Given the description of an element on the screen output the (x, y) to click on. 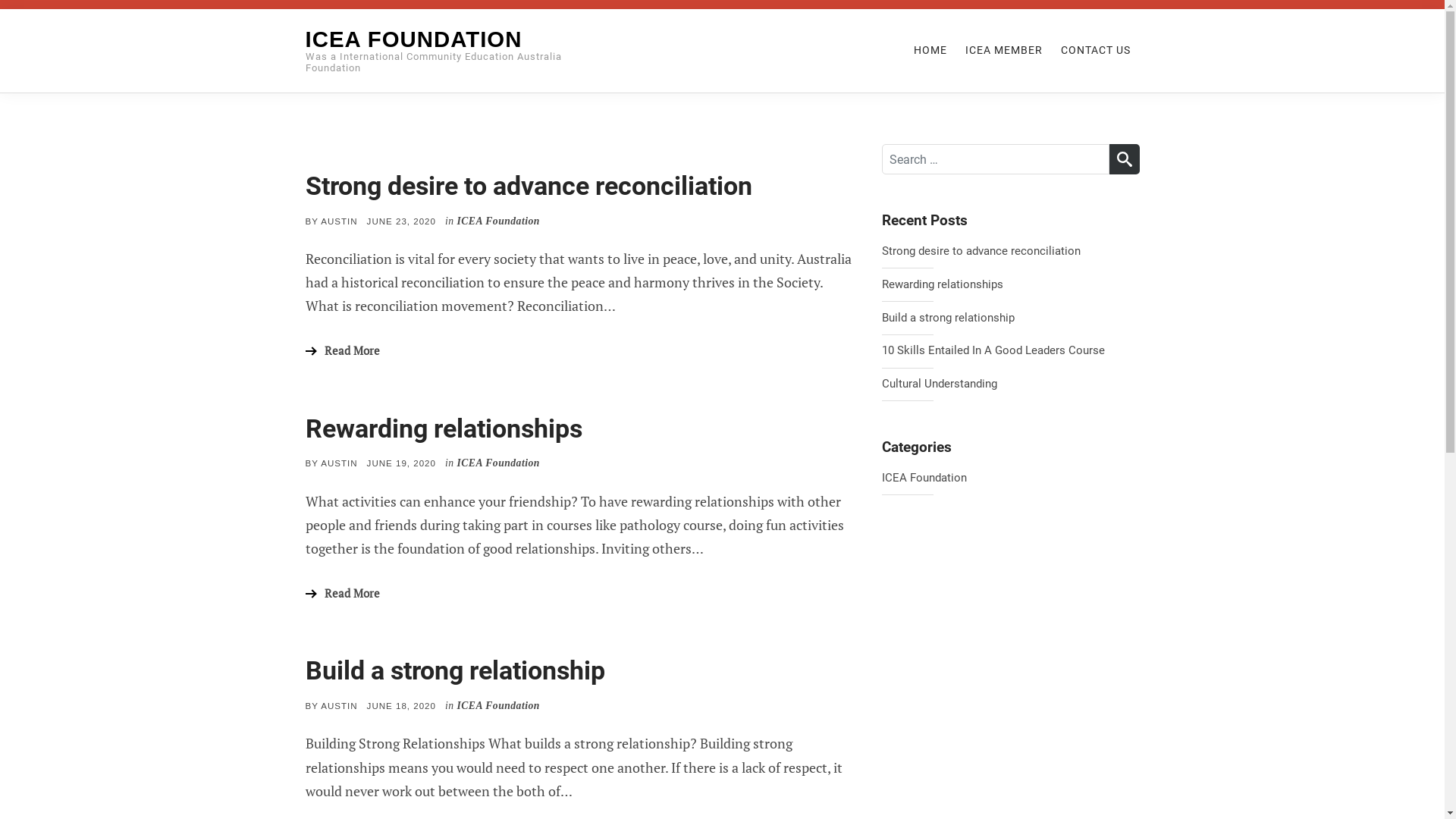
JUNE 23, 2020 Element type: text (401, 220)
Rewarding relationships Element type: text (442, 428)
JUNE 18, 2020 Element type: text (401, 705)
SEARCH Element type: text (1123, 159)
JUNE 19, 2020 Element type: text (401, 462)
AUSTIN Element type: text (338, 705)
AUSTIN Element type: text (338, 220)
Rewarding relationships Element type: text (1010, 284)
ICEA MEMBER Element type: text (1002, 49)
Build a strong relationship Element type: text (454, 670)
ICEA FOUNDATION Element type: text (412, 38)
Build a strong relationship Element type: text (1010, 318)
Read More Element type: text (341, 593)
Read More Element type: text (341, 350)
HOME Element type: text (929, 49)
Search for: Element type: hover (994, 159)
AUSTIN Element type: text (338, 462)
CONTACT US Element type: text (1094, 49)
Cultural Understanding Element type: text (1010, 384)
Strong desire to advance reconciliation Element type: text (1010, 251)
ICEA Foundation Element type: text (923, 478)
Strong desire to advance reconciliation Element type: text (527, 185)
10 Skills Entailed In A Good Leaders Course Element type: text (1010, 350)
